Given the description of an element on the screen output the (x, y) to click on. 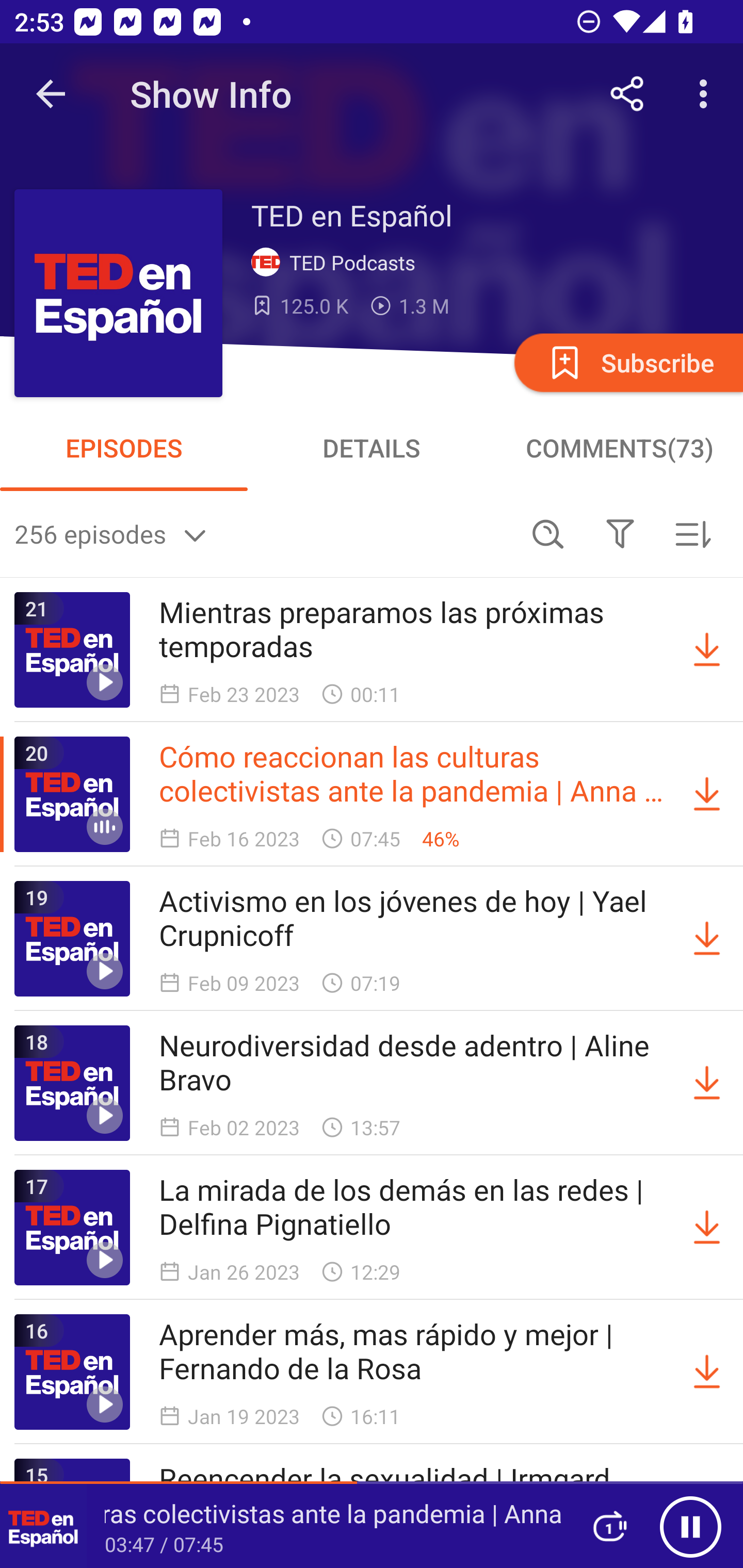
Navigate up (50, 93)
Share (626, 93)
More options (706, 93)
TED Podcasts (337, 262)
Subscribe (627, 361)
EPISODES (123, 447)
DETAILS (371, 447)
COMMENTS(73) (619, 447)
256 episodes  (262, 533)
 Search (547, 533)
 (619, 533)
 Sorted by newest first (692, 533)
Download (706, 649)
Download (706, 793)
Download (706, 939)
Download (706, 1083)
Download (706, 1227)
Download (706, 1371)
Pause (690, 1526)
